Given the description of an element on the screen output the (x, y) to click on. 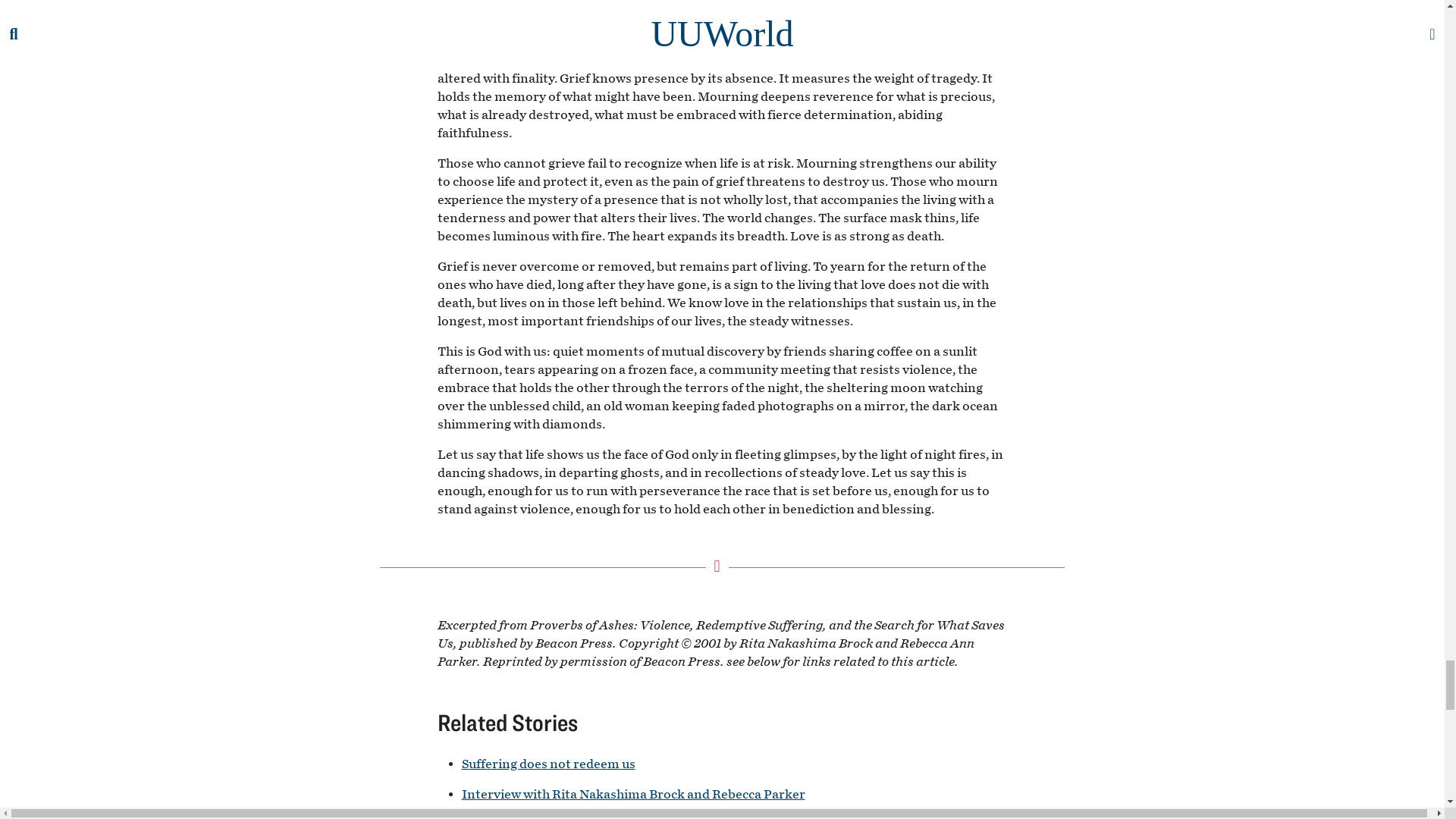
Suffering does not redeem us (547, 763)
Interview with Rita Nakashima Brock and Rebecca Parker (633, 794)
